Given the description of an element on the screen output the (x, y) to click on. 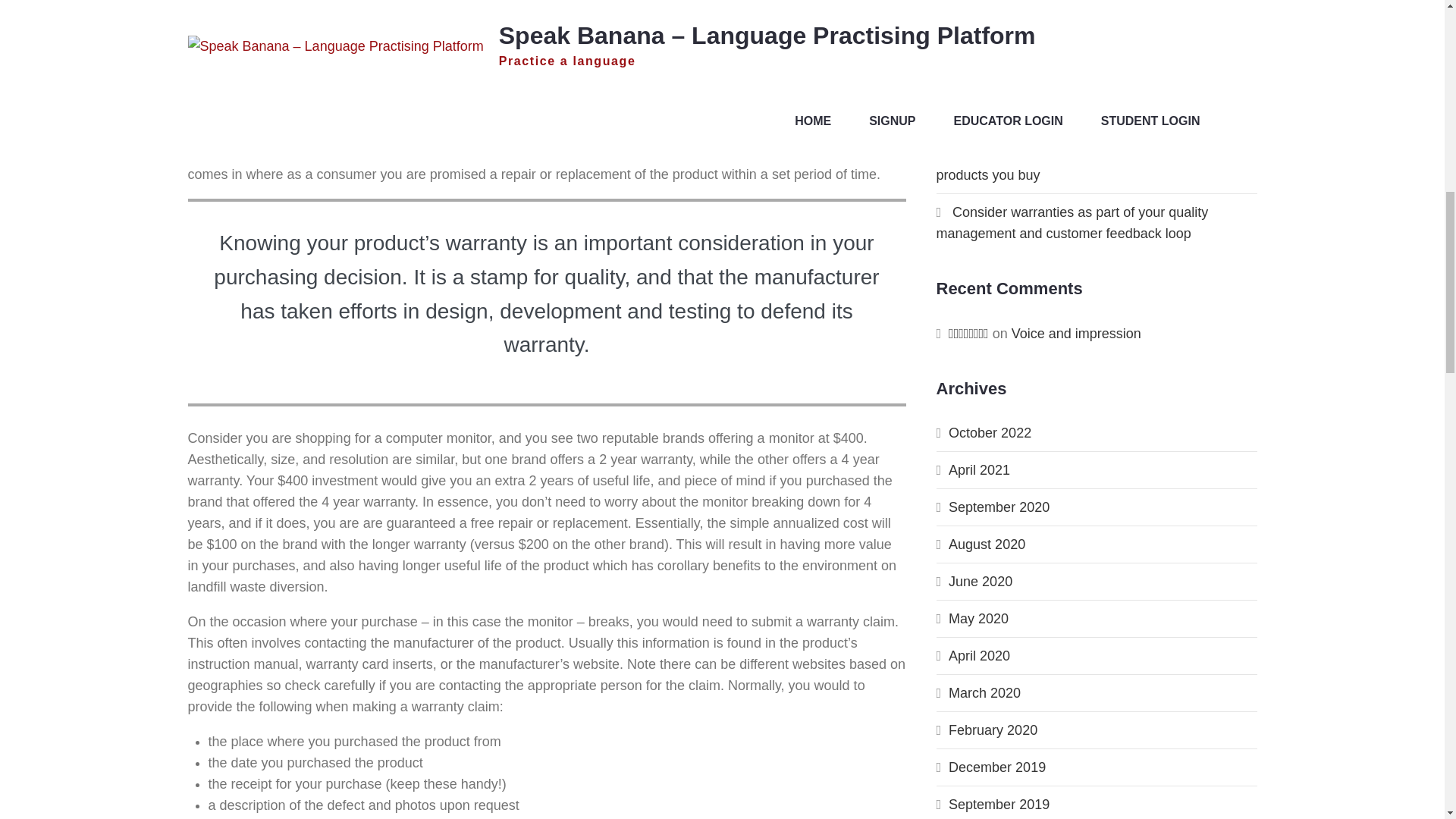
February 2020 (992, 729)
May 2020 (979, 618)
Why it is important to offer a warranty on your product (1081, 105)
April 2021 (979, 469)
The influence of Jack Ma (1027, 58)
March 2020 (984, 693)
Voice and impression (1076, 333)
October 2022 (989, 432)
June 2020 (980, 581)
